Given the description of an element on the screen output the (x, y) to click on. 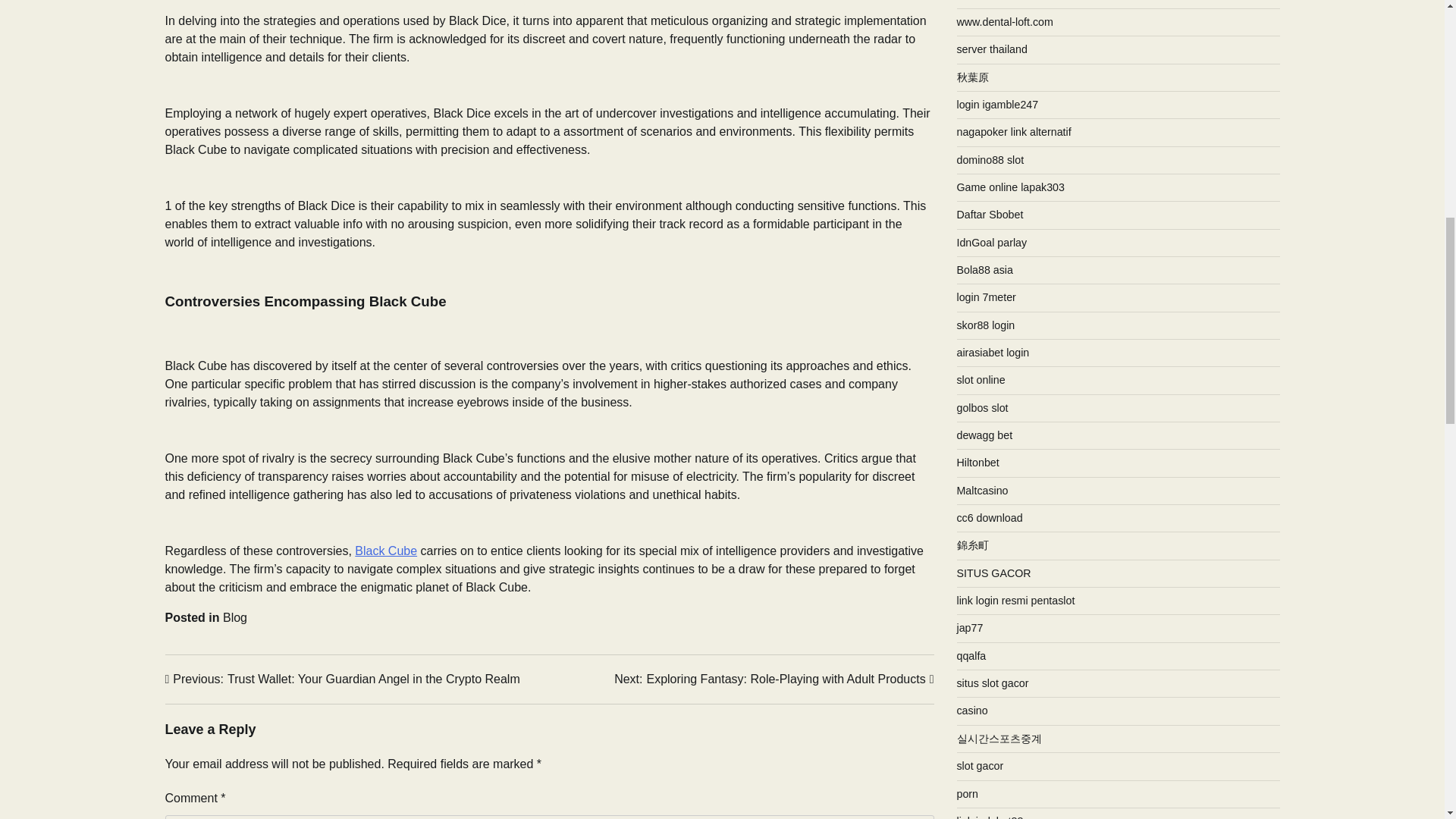
server thailand (991, 49)
Black Cube (385, 550)
nagapoker link alternatif (1013, 132)
Game online lapak303 (1010, 186)
slot demo (980, 0)
Blog (234, 617)
domino88 slot (990, 159)
Daftar Sbobet (773, 679)
login igamble247 (989, 214)
www.dental-loft.com (997, 104)
